Given the description of an element on the screen output the (x, y) to click on. 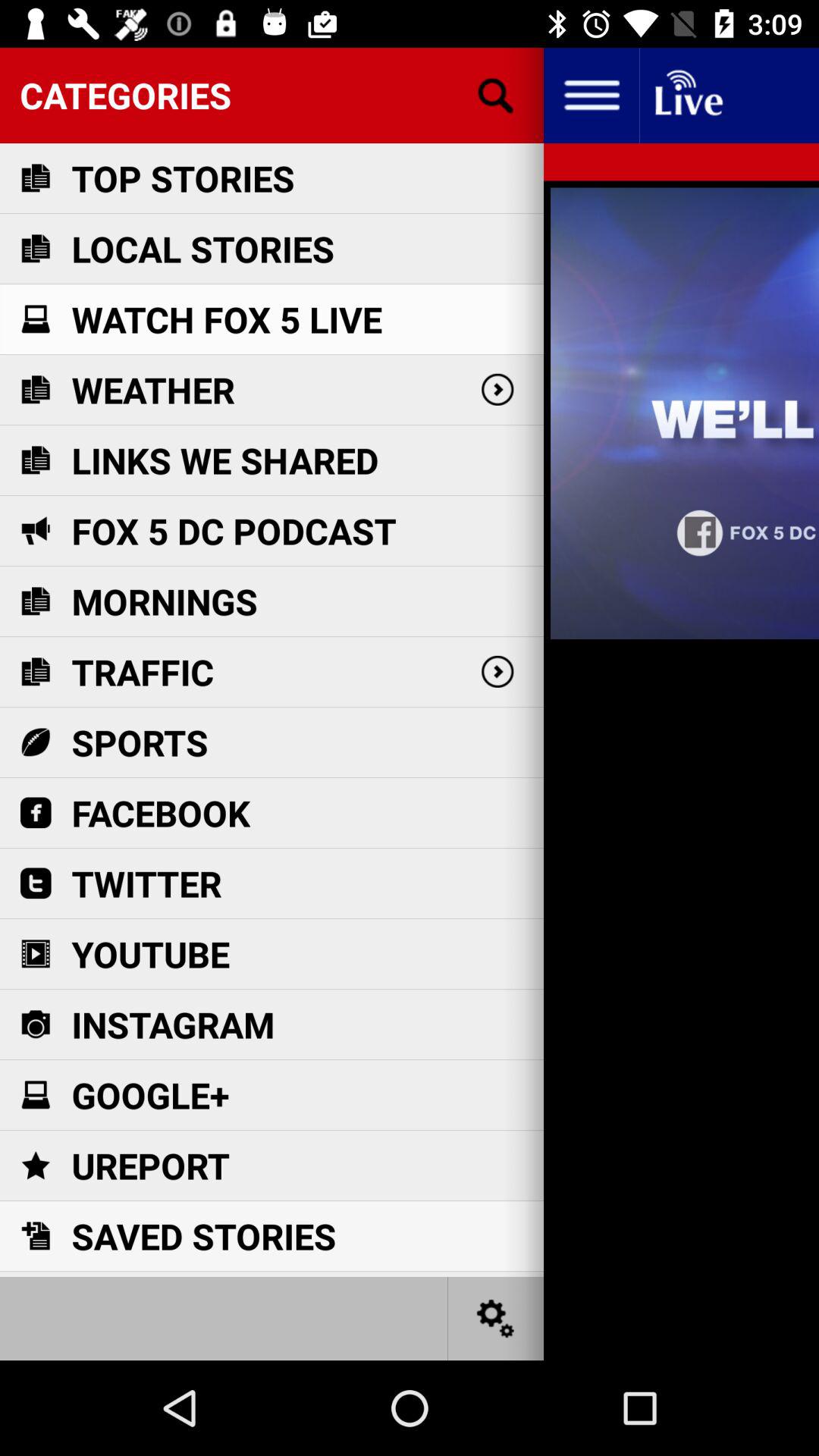
go do seating (495, 1318)
